Given the description of an element on the screen output the (x, y) to click on. 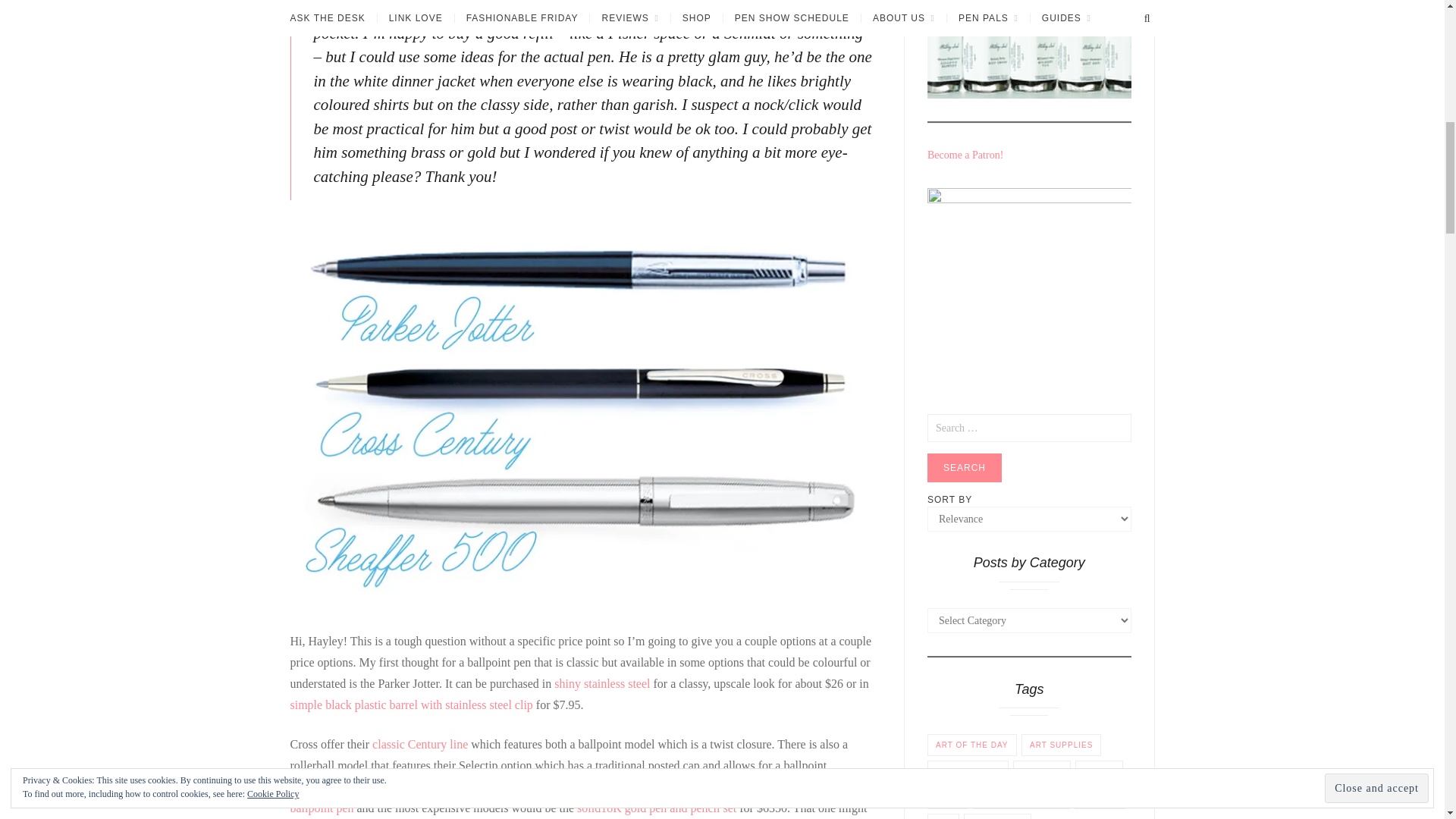
solid18K gold pen and pencil set (656, 807)
black chrome plated ballpoint pen (560, 797)
Search (964, 467)
classic Century line (419, 744)
Search (964, 467)
shiny stainless steel (601, 683)
simple black plastic barrel with stainless steel clip (410, 704)
